Given the description of an element on the screen output the (x, y) to click on. 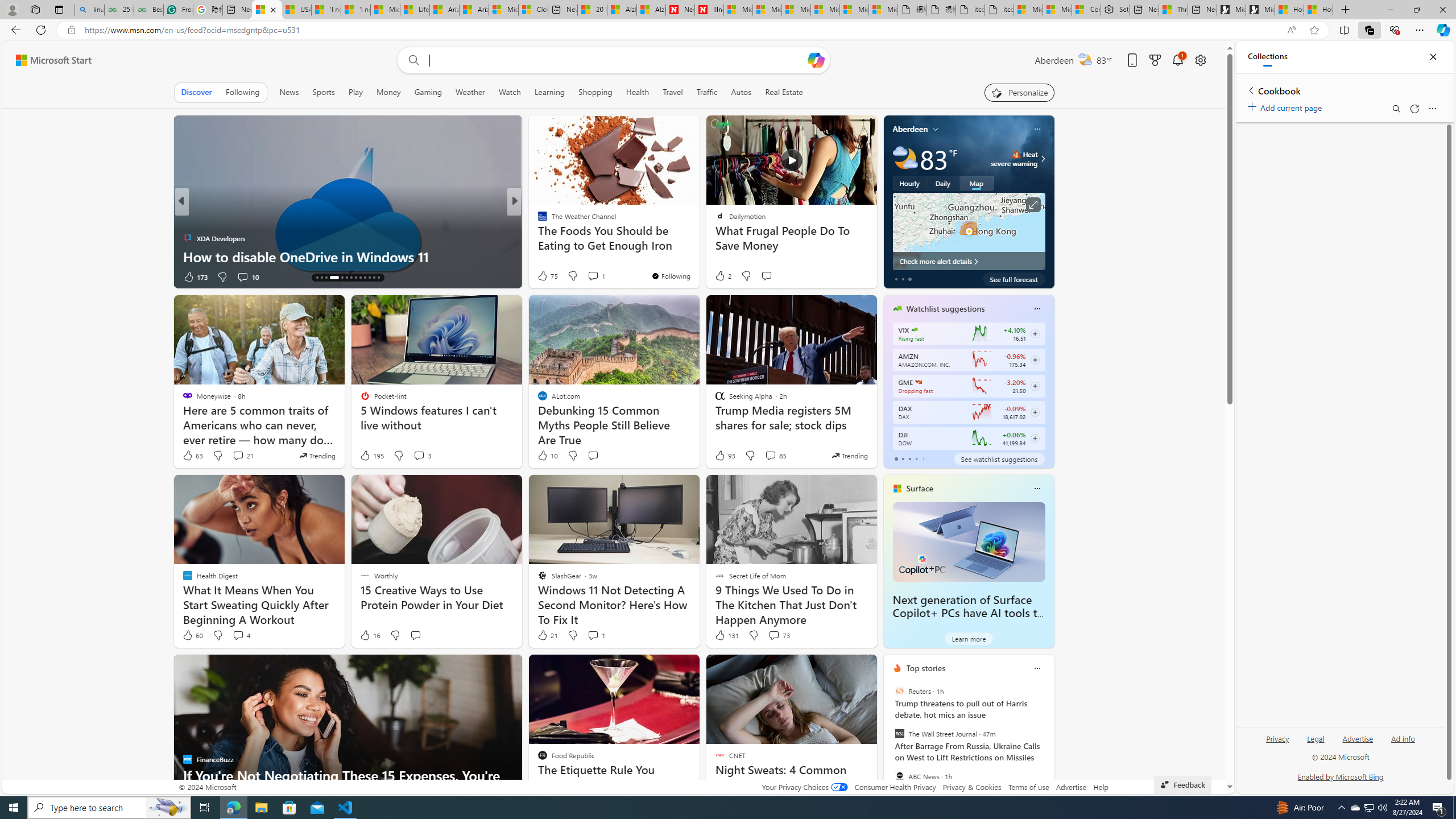
Add current page (1286, 105)
View comments 73 Comment (778, 634)
View comments 3 Comment (419, 455)
You're following The Weather Channel (670, 275)
View comments 21 Comment (237, 455)
Free AI Writing Assistance for Students | Grammarly (178, 9)
My location (936, 128)
